Given the description of an element on the screen output the (x, y) to click on. 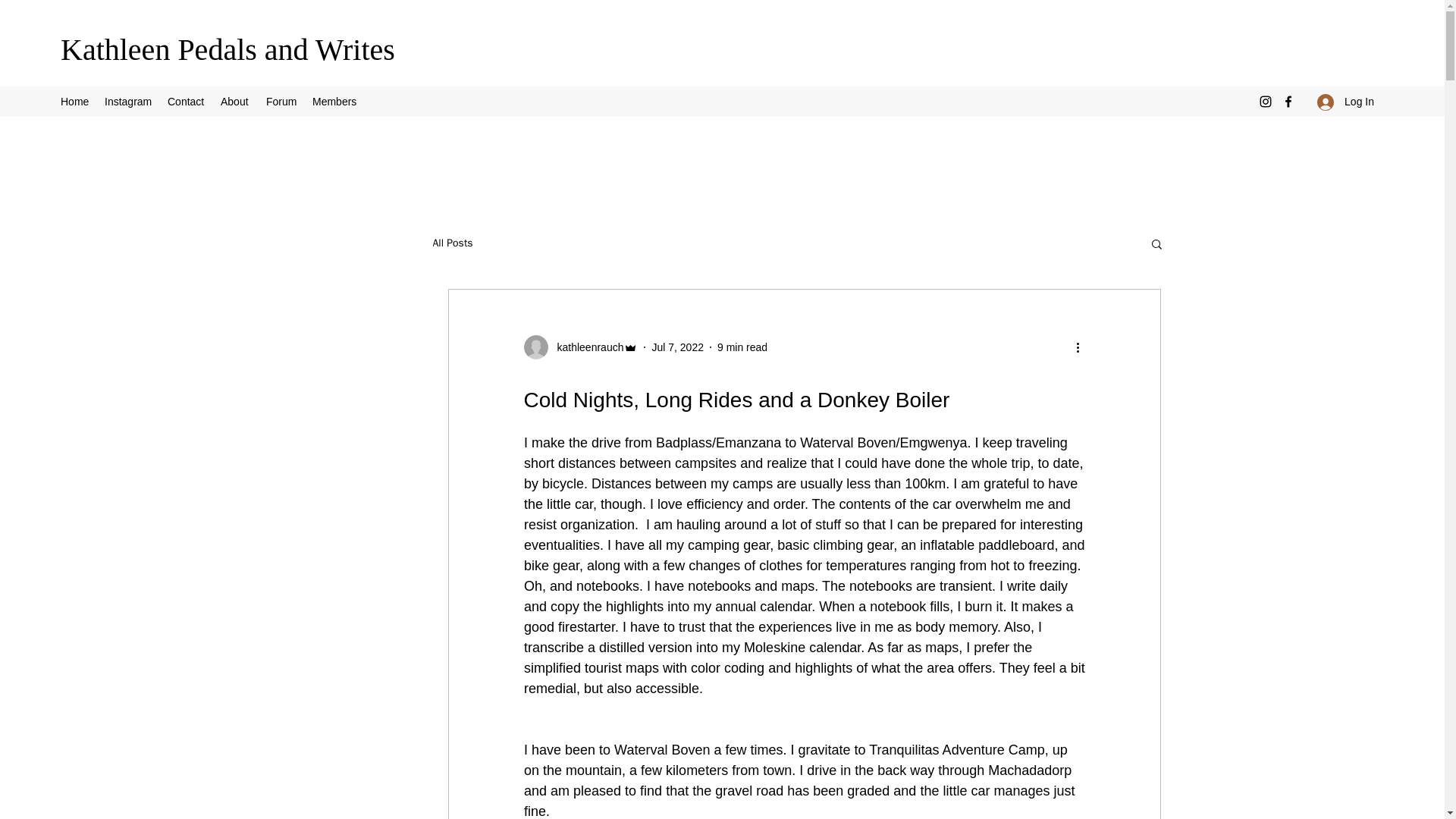
Kathleen Pedals and Writes (227, 49)
Home (74, 101)
Log In (1345, 101)
9 min read (742, 346)
Jul 7, 2022 (676, 346)
kathleenrauch (585, 347)
Forum (281, 101)
All Posts (451, 243)
Members (334, 101)
About (235, 101)
kathleenrauch (579, 346)
Contact (186, 101)
Instagram (128, 101)
